Given the description of an element on the screen output the (x, y) to click on. 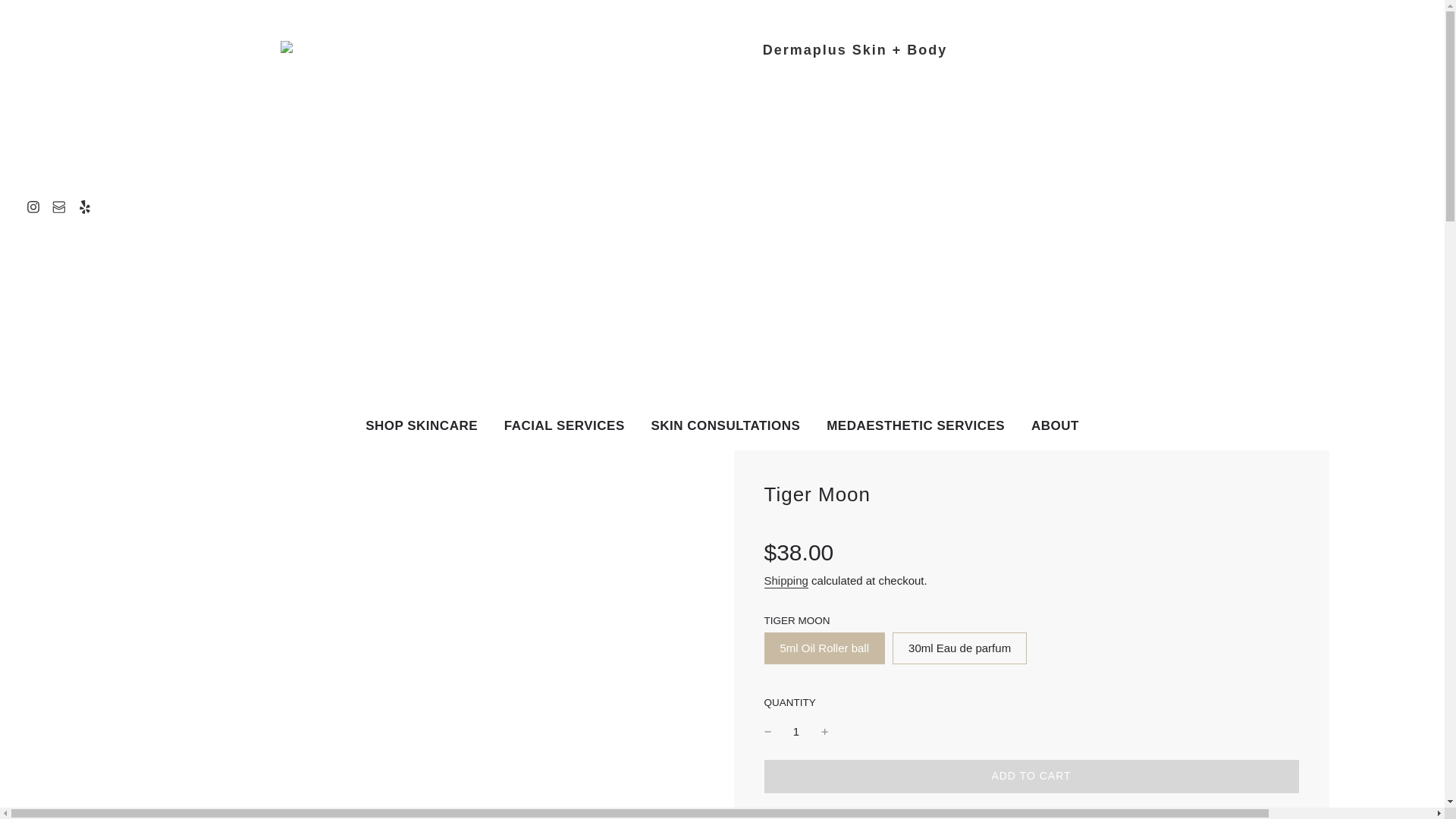
SHOP SKINCARE (421, 425)
1 (796, 731)
SKIN CONSULTATIONS (724, 425)
MEDAESTHETIC SERVICES (915, 425)
FACIAL SERVICES (564, 425)
ABOUT (1055, 425)
